Given the description of an element on the screen output the (x, y) to click on. 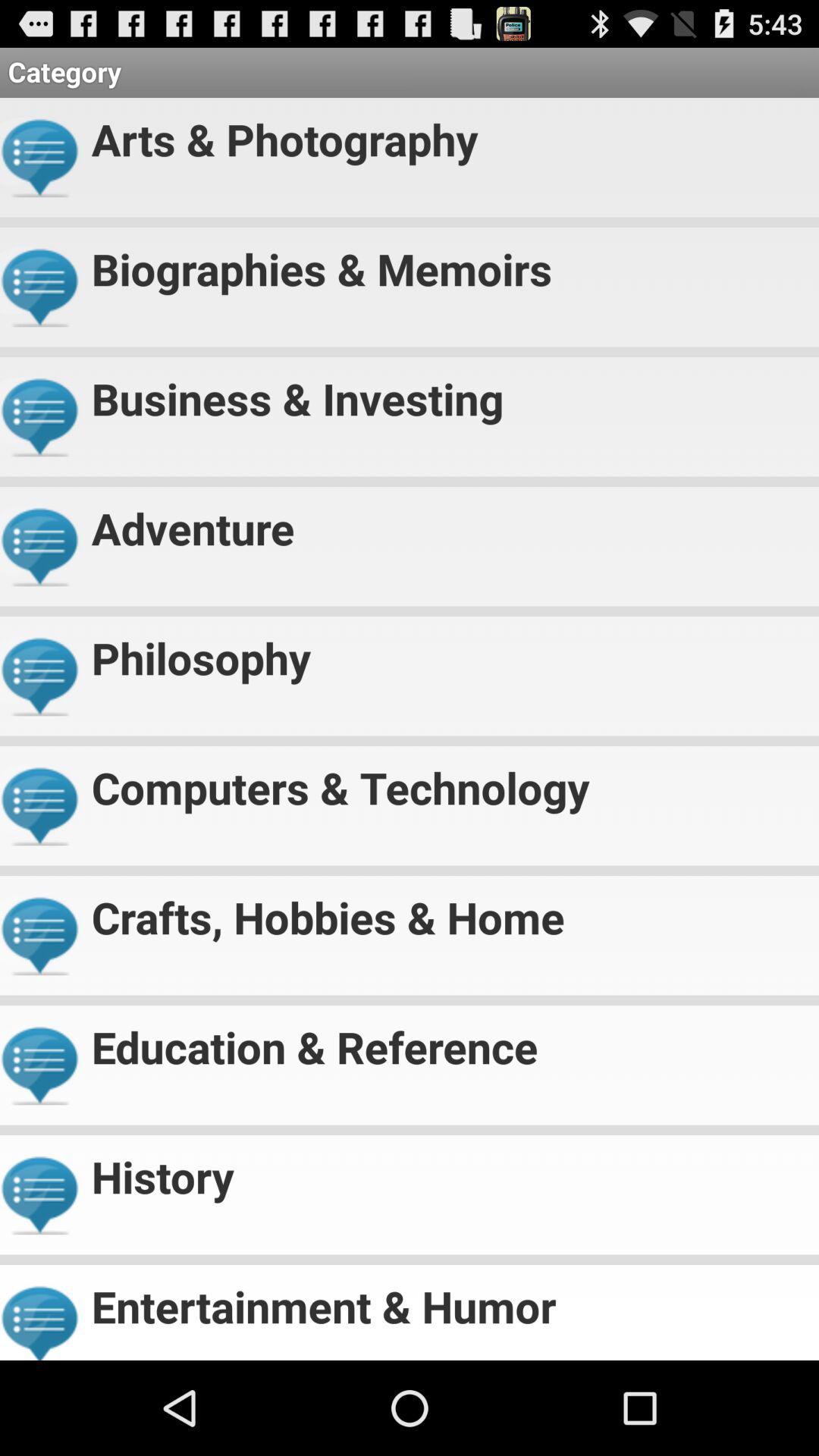
jump to the arts & photography  app (449, 132)
